Given the description of an element on the screen output the (x, y) to click on. 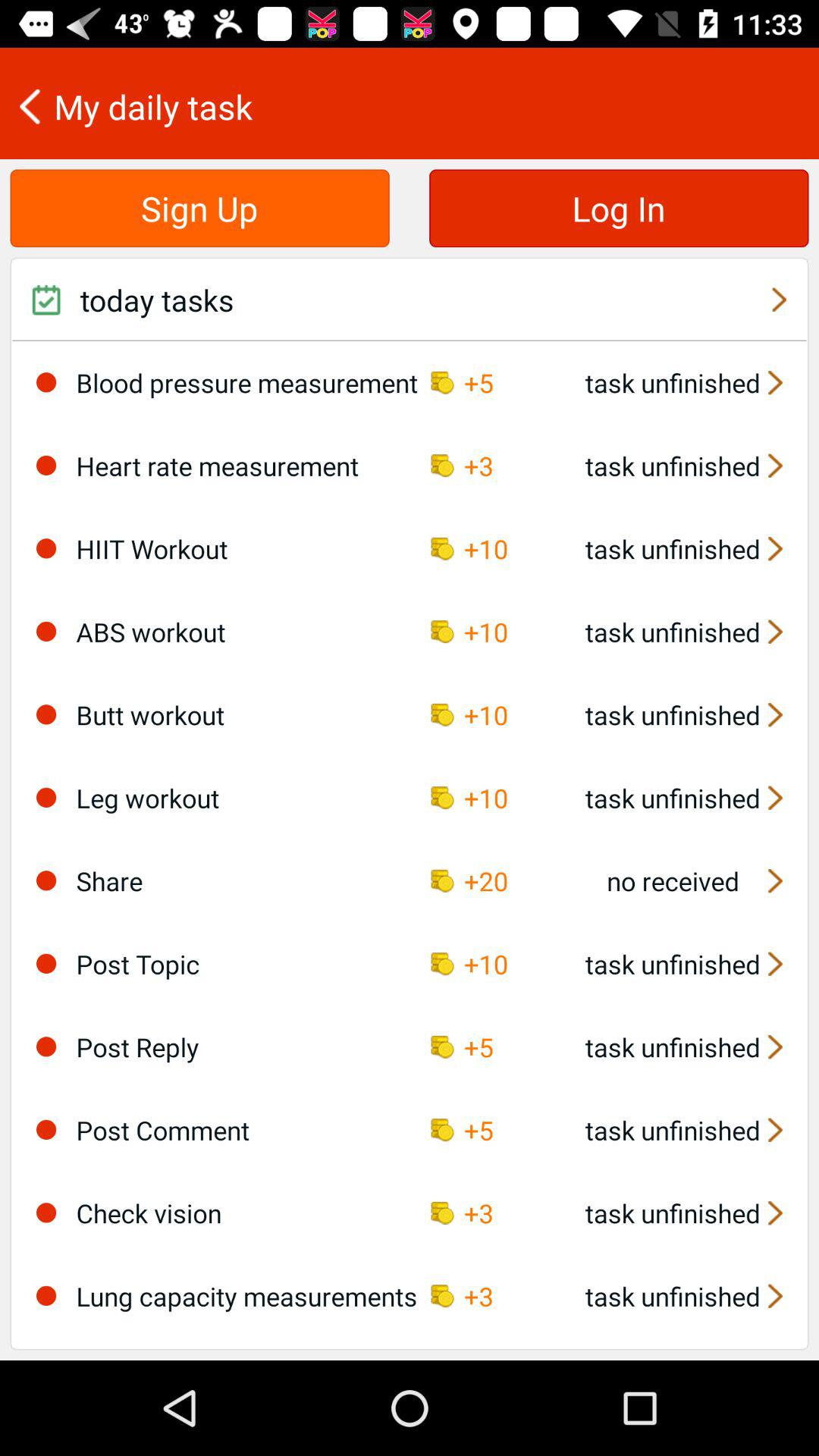
tap icon to the left of post comment icon (46, 1129)
